Given the description of an element on the screen output the (x, y) to click on. 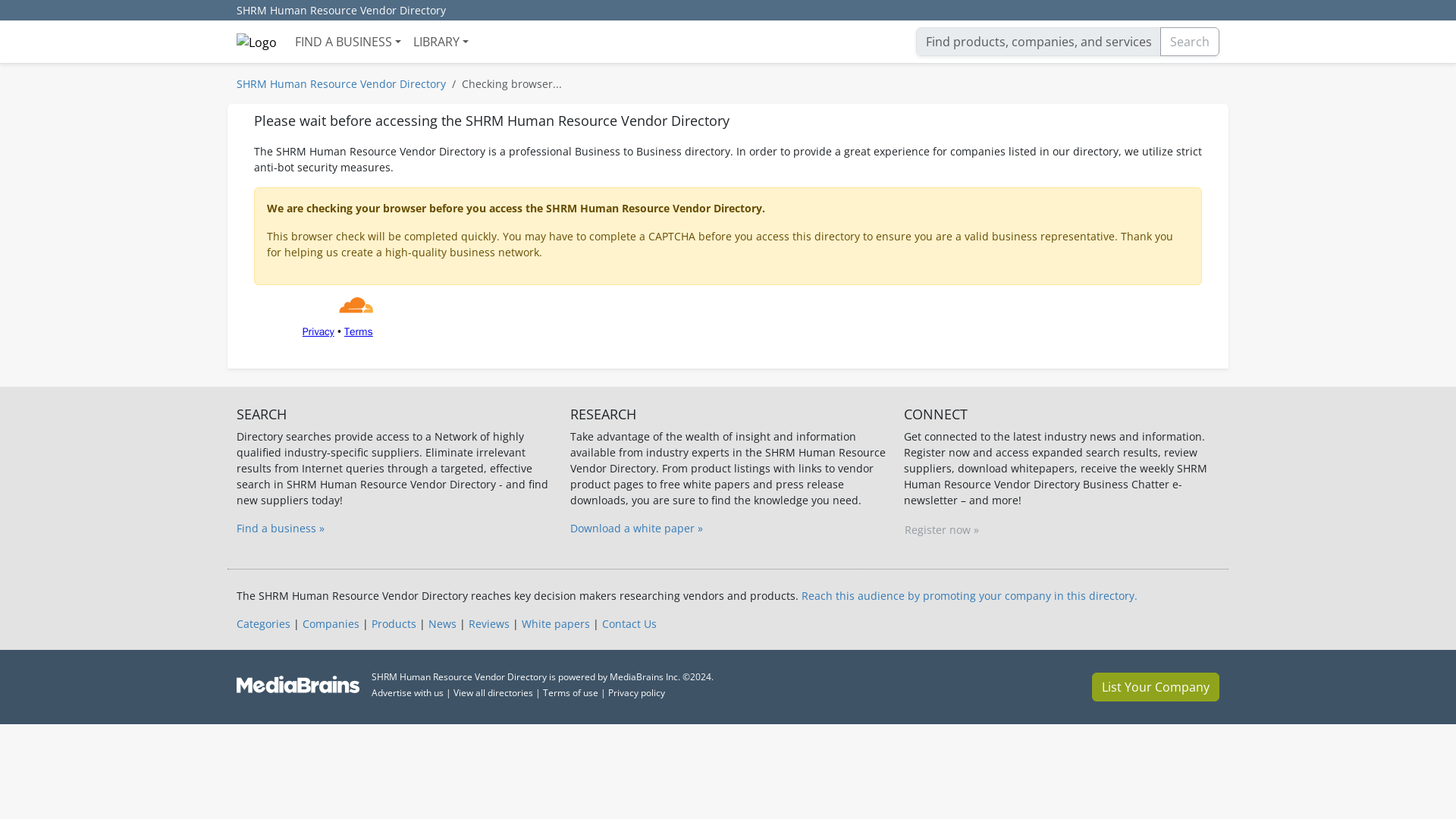
Terms of use (570, 692)
Reviews (488, 623)
SHRM Human Resource Vendor Directory (341, 10)
Search (1190, 41)
View all directories (492, 692)
News (442, 623)
Privacy policy (636, 692)
List Your Company (1156, 686)
FIND A BUSINESS (347, 41)
